Given the description of an element on the screen output the (x, y) to click on. 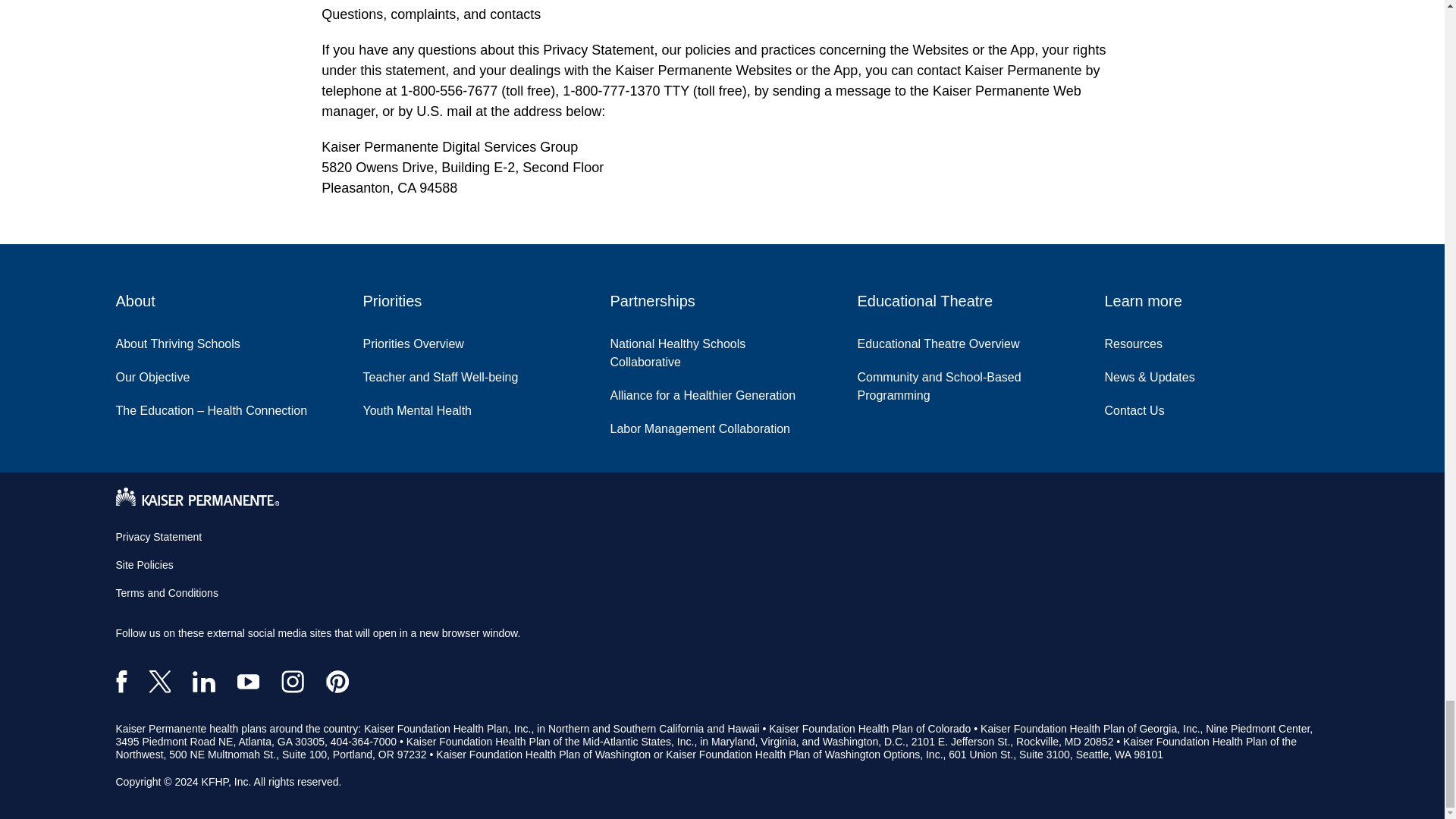
About Thriving Schools (188, 340)
Educational Theatre Overview (949, 340)
YouTube (248, 681)
About Thriving Schools (188, 340)
Site Policies (144, 564)
National Healthy Schools Collaborative (722, 349)
Priorities Overview (424, 340)
Instagram (292, 681)
Teacher and Staff Well-being (451, 373)
Alliance for a Healthier Generation (714, 391)
